Given the description of an element on the screen output the (x, y) to click on. 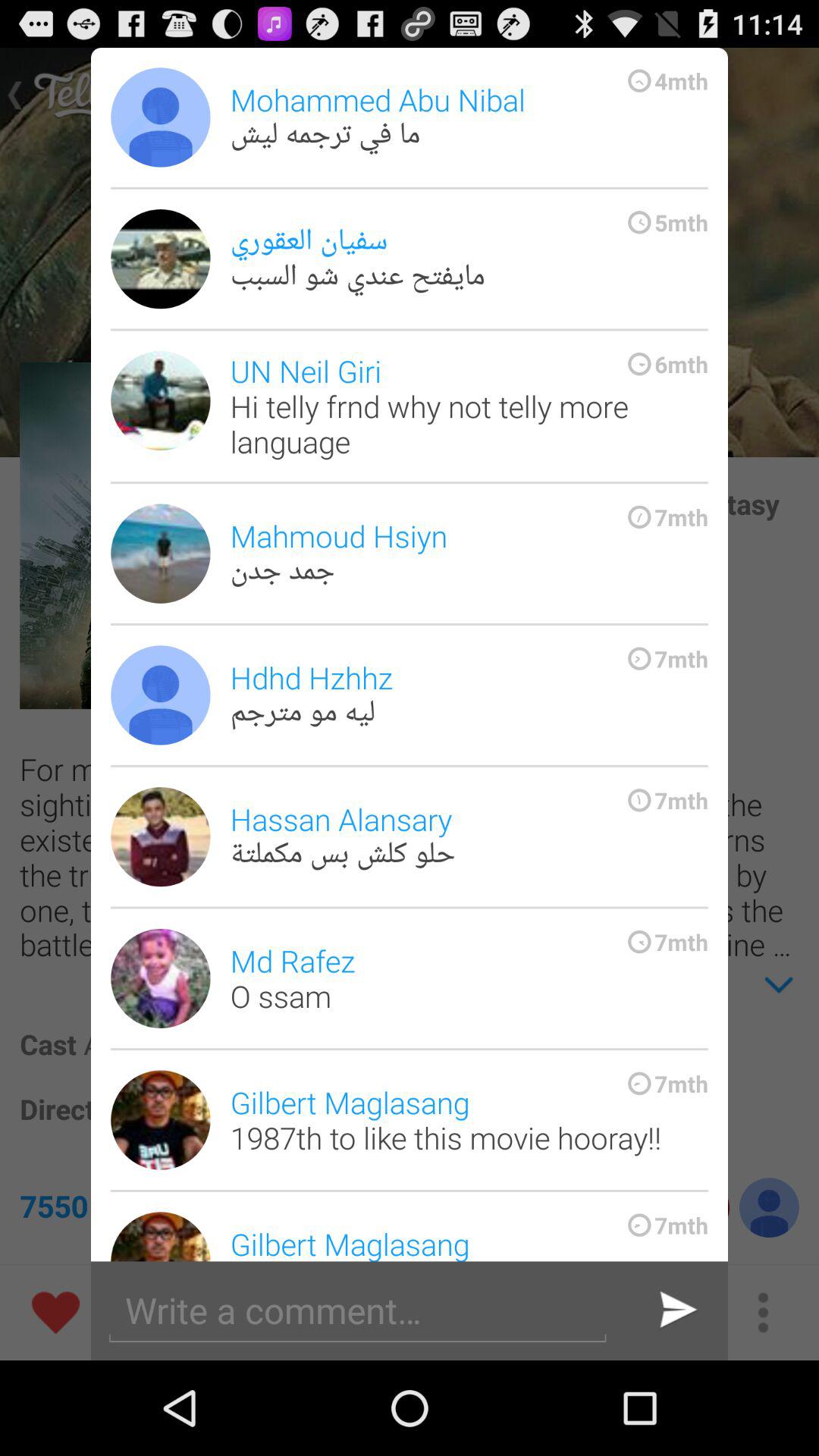
flip to the un neil giri item (469, 405)
